Given the description of an element on the screen output the (x, y) to click on. 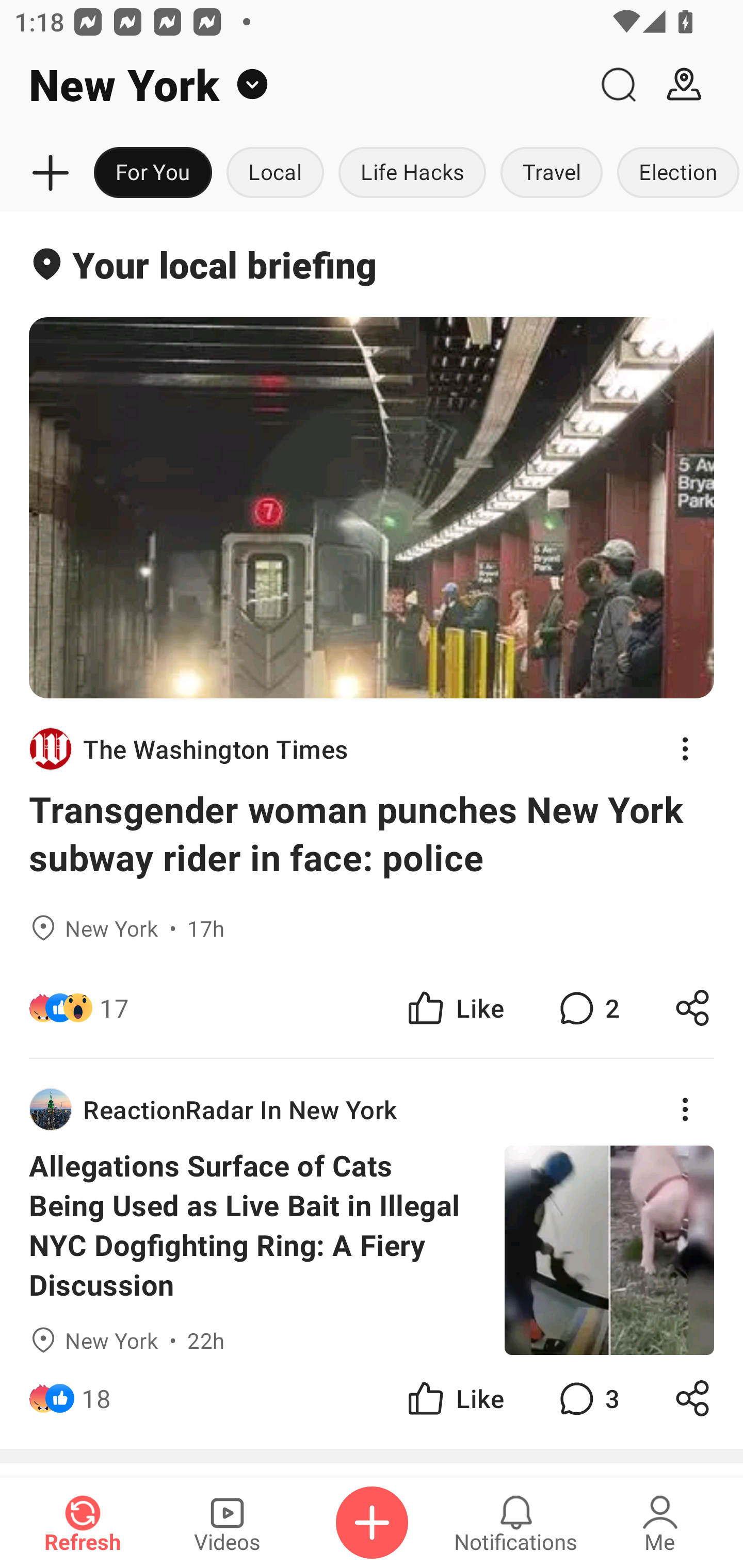
New York (292, 84)
For You (152, 172)
Local (275, 172)
Life Hacks (412, 172)
Travel (551, 172)
Election (676, 172)
17 (114, 1007)
Like (454, 1007)
2 (587, 1007)
18 (95, 1397)
Like (454, 1397)
3 (587, 1397)
Videos (227, 1522)
Notifications (516, 1522)
Me (659, 1522)
